Given the description of an element on the screen output the (x, y) to click on. 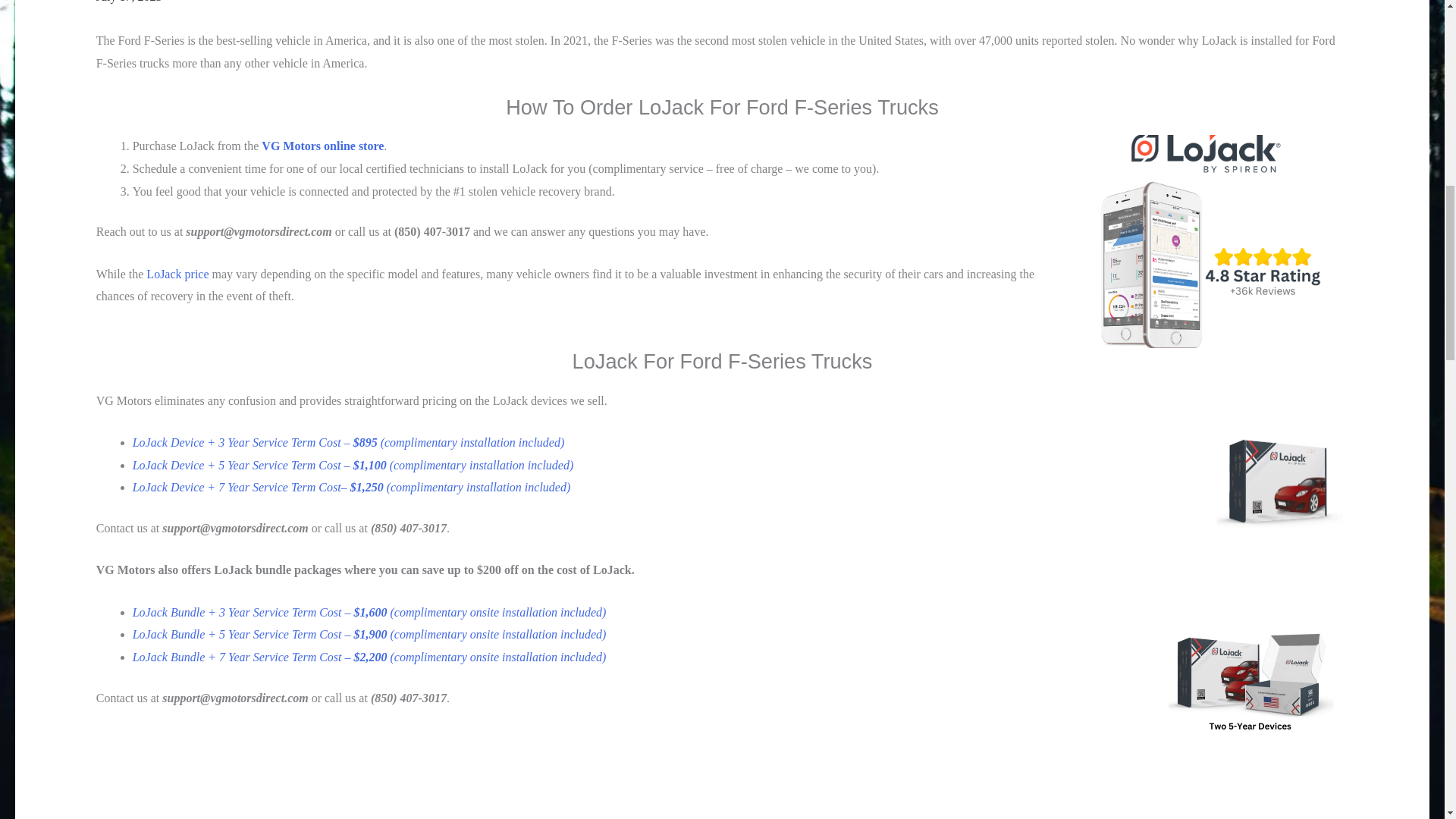
How LoJack Works and How To Buy Online (625, 773)
LoJack price (177, 273)
VG Motors online store (323, 145)
